Given the description of an element on the screen output the (x, y) to click on. 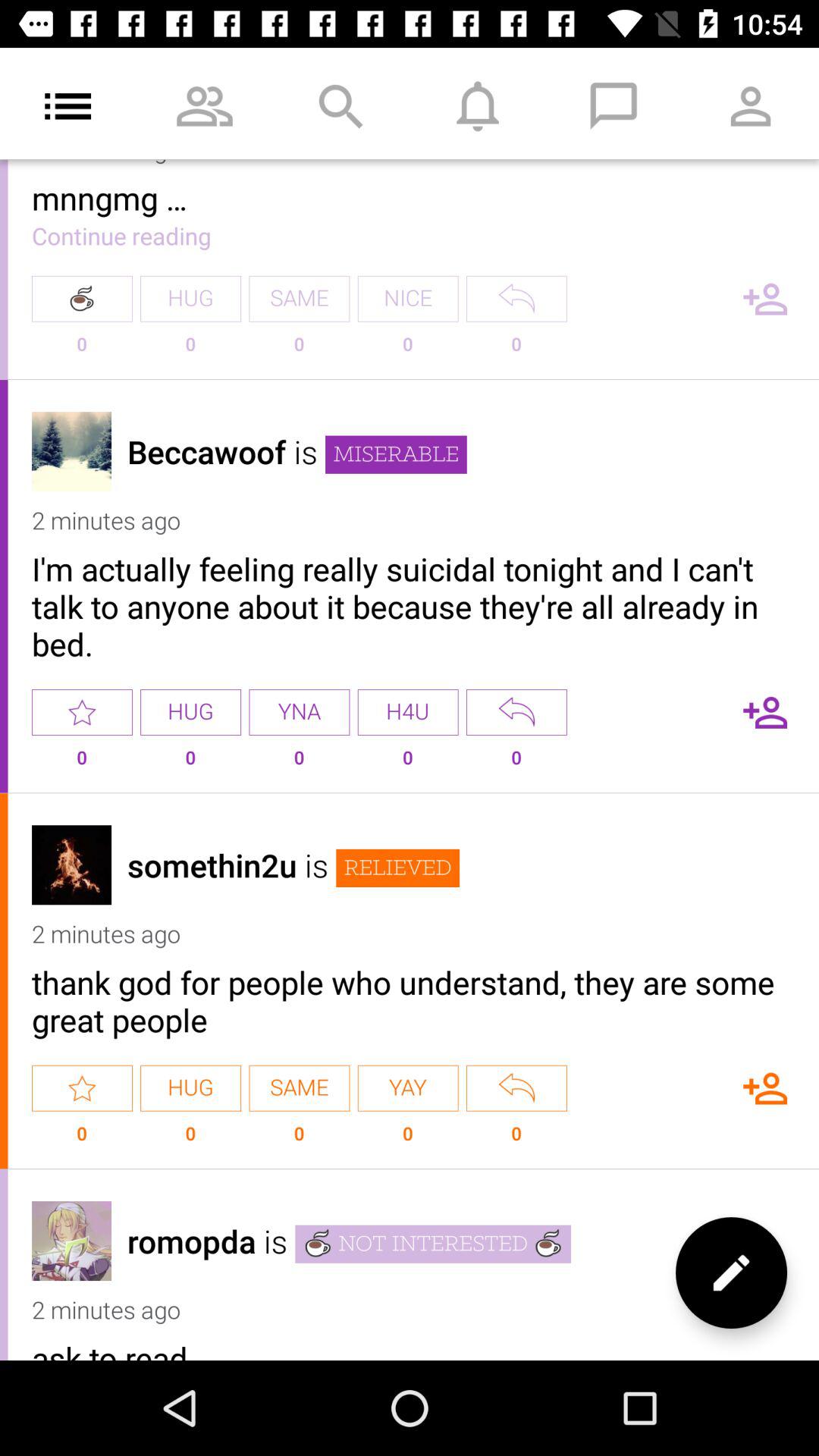
go to user profile (71, 864)
